Given the description of an element on the screen output the (x, y) to click on. 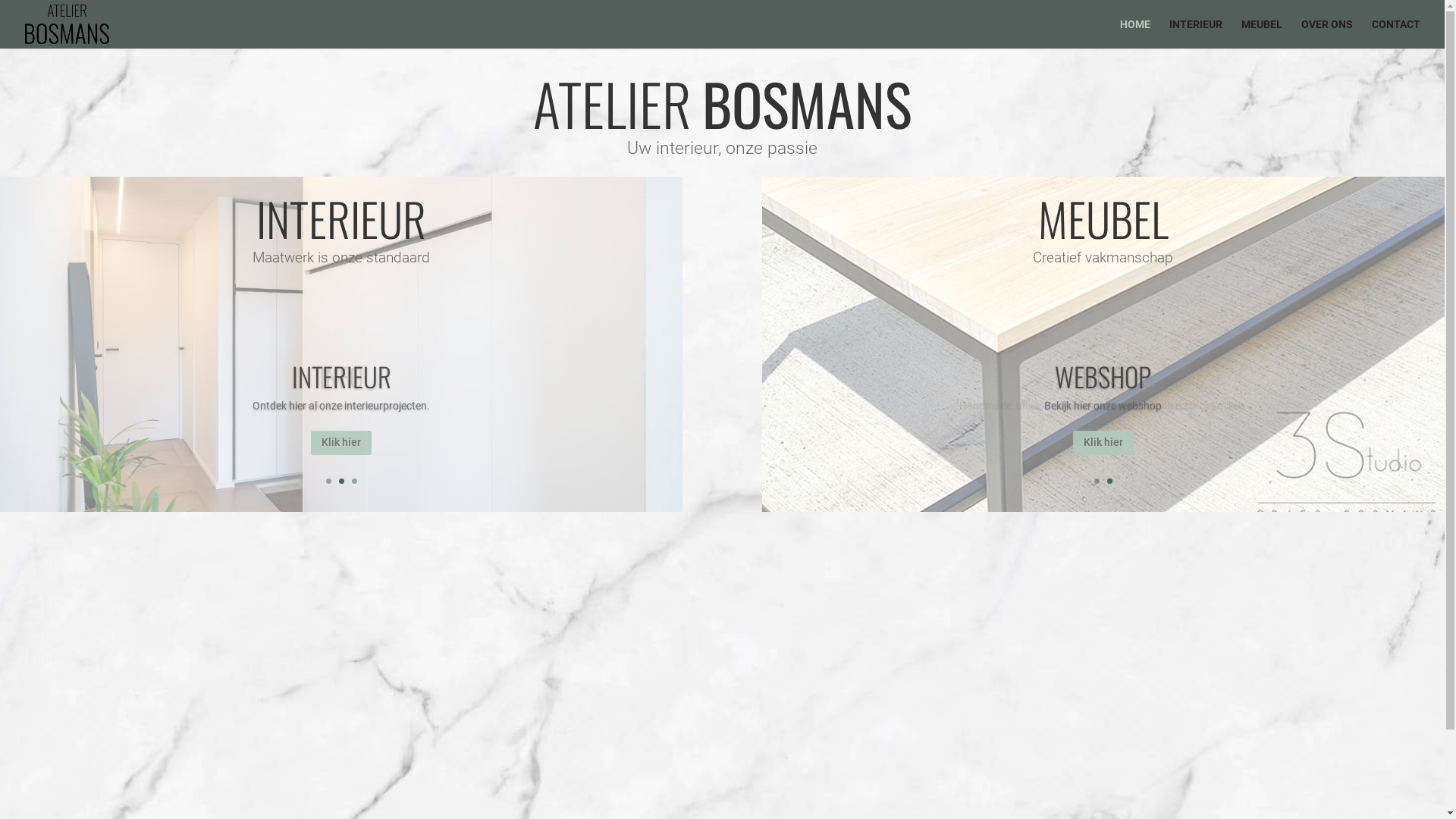
INTERIEUR Element type: text (1195, 33)
1 Element type: text (1096, 480)
CONTACT Element type: text (1395, 33)
Klik hier Element type: text (340, 442)
2 Element type: text (1109, 480)
INTERIEUR Element type: text (341, 375)
2 Element type: text (341, 480)
INFO Element type: text (1103, 375)
3 Element type: text (354, 480)
Klik hier Element type: text (1103, 442)
WEBSHOP Element type: text (1102, 375)
HOME Element type: text (1135, 33)
MEUBEL Element type: text (1261, 33)
INFO Element type: text (341, 375)
OVER ONS Element type: text (1326, 33)
1 Element type: text (328, 480)
